Given the description of an element on the screen output the (x, y) to click on. 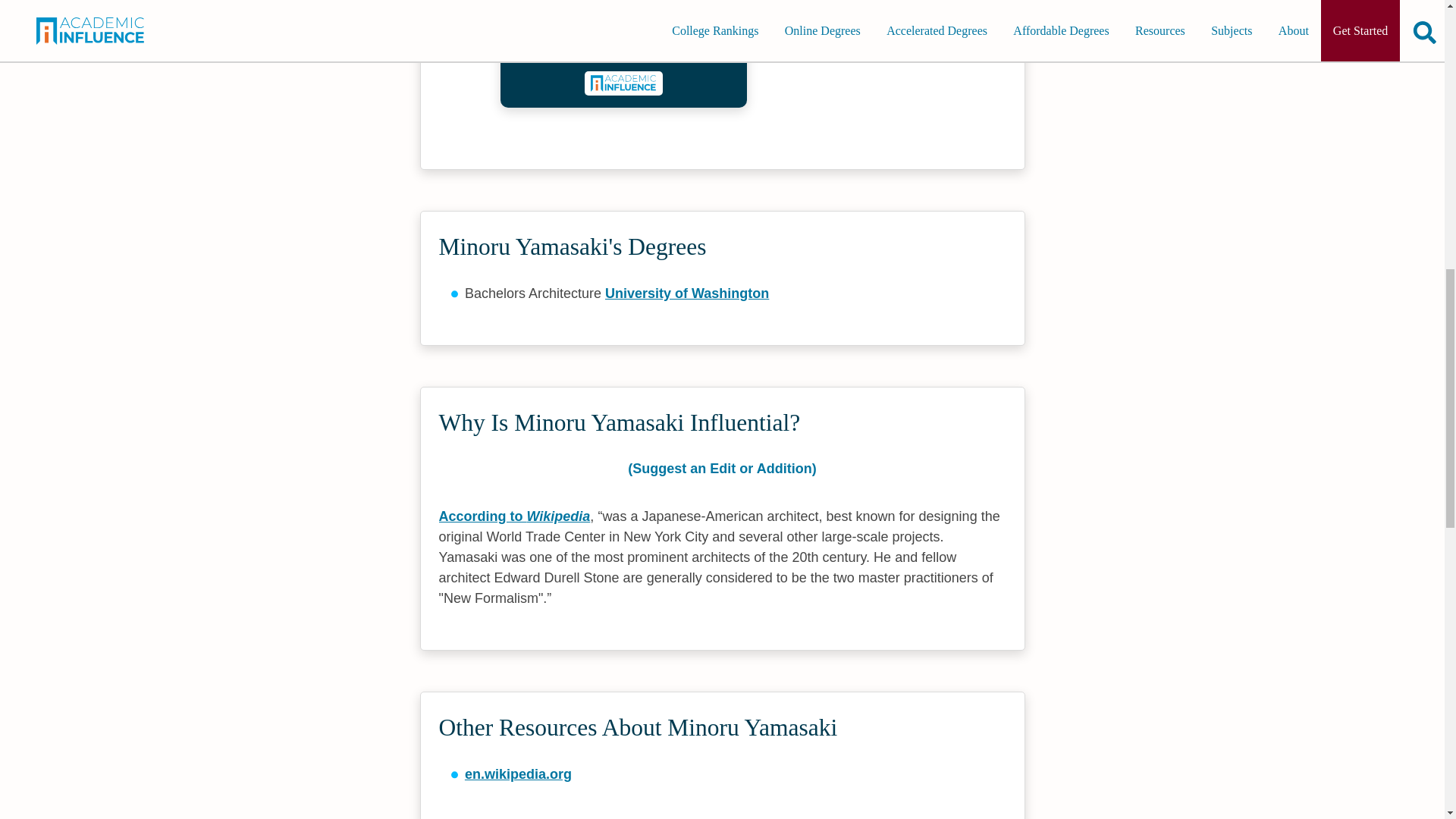
University of Washington (686, 293)
According to Wikipedia (513, 516)
en.wikipedia.org (518, 774)
Engineering Degrees (623, 48)
